Given the description of an element on the screen output the (x, y) to click on. 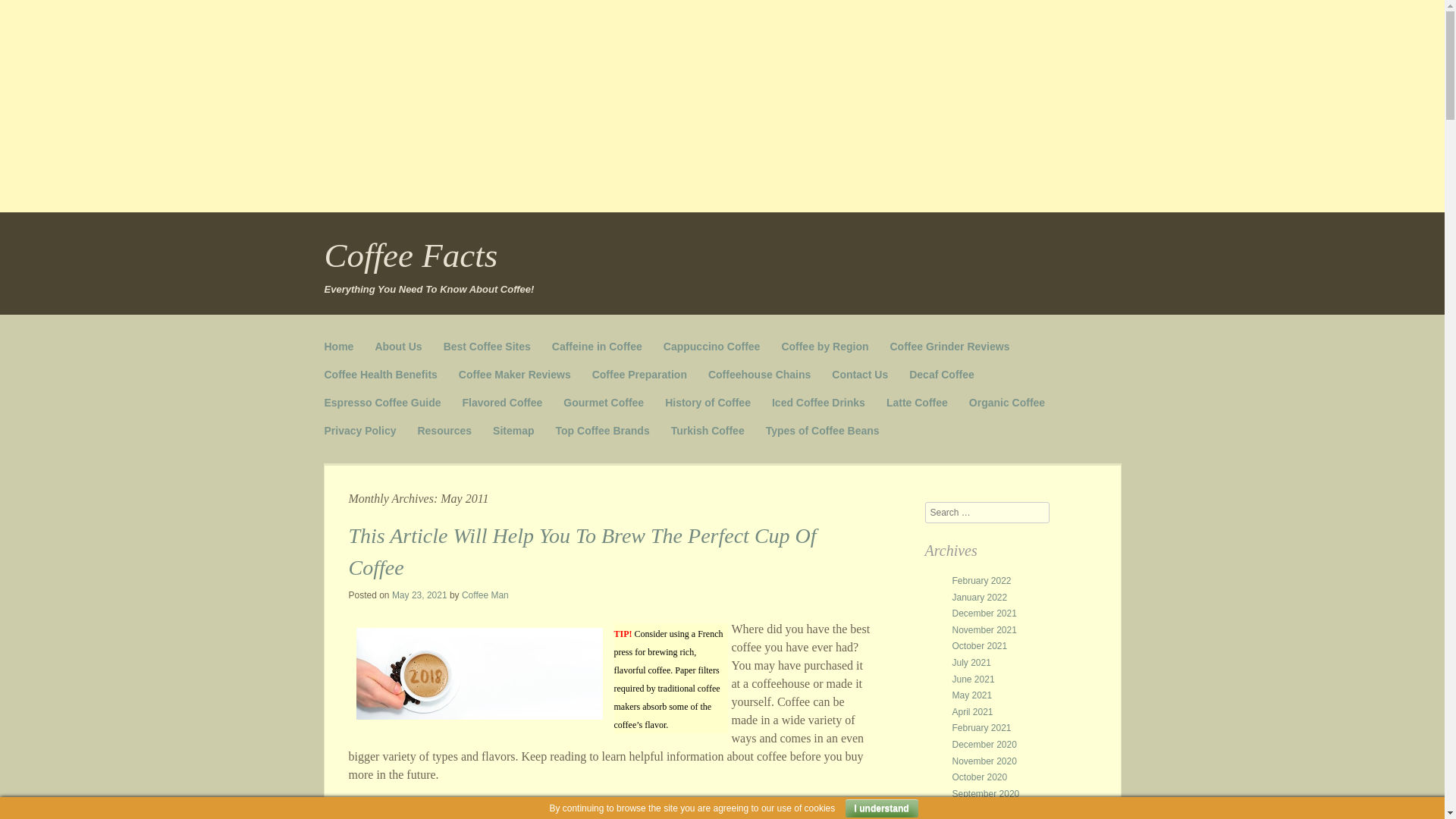
Coffee by Region (823, 346)
Cappuccino Coffee (711, 346)
Caffeine in Coffee (596, 346)
Best Coffee Sites (487, 346)
View all posts by Coffee Man (484, 594)
5:38 pm (418, 594)
Skip to content (362, 340)
Coffee Facts (410, 255)
Coffee Facts (410, 255)
